Given the description of an element on the screen output the (x, y) to click on. 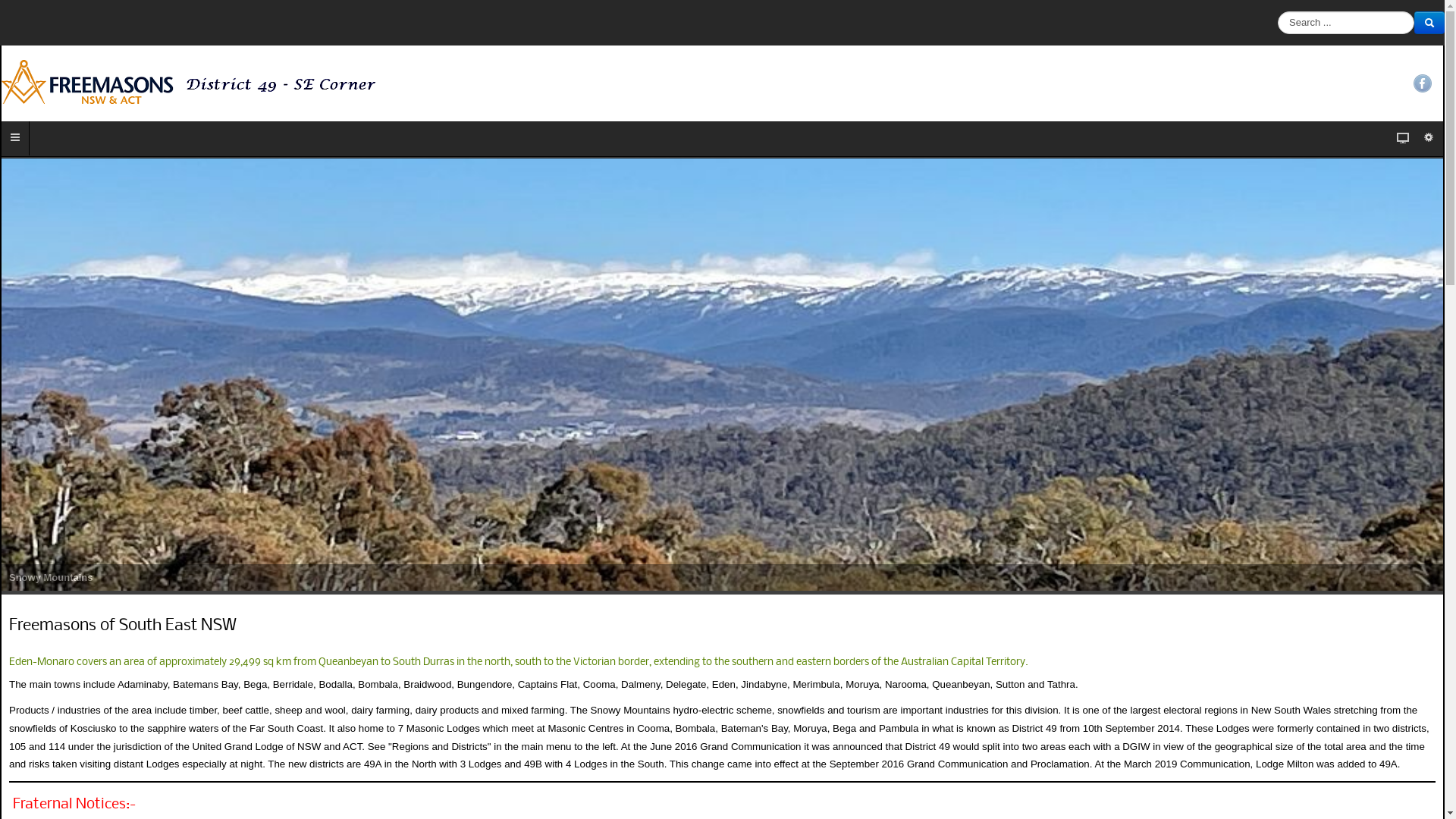
snowy_mtns.jpg Element type: hover (722, 374)
Facebook Element type: text (1422, 83)
